Given the description of an element on the screen output the (x, y) to click on. 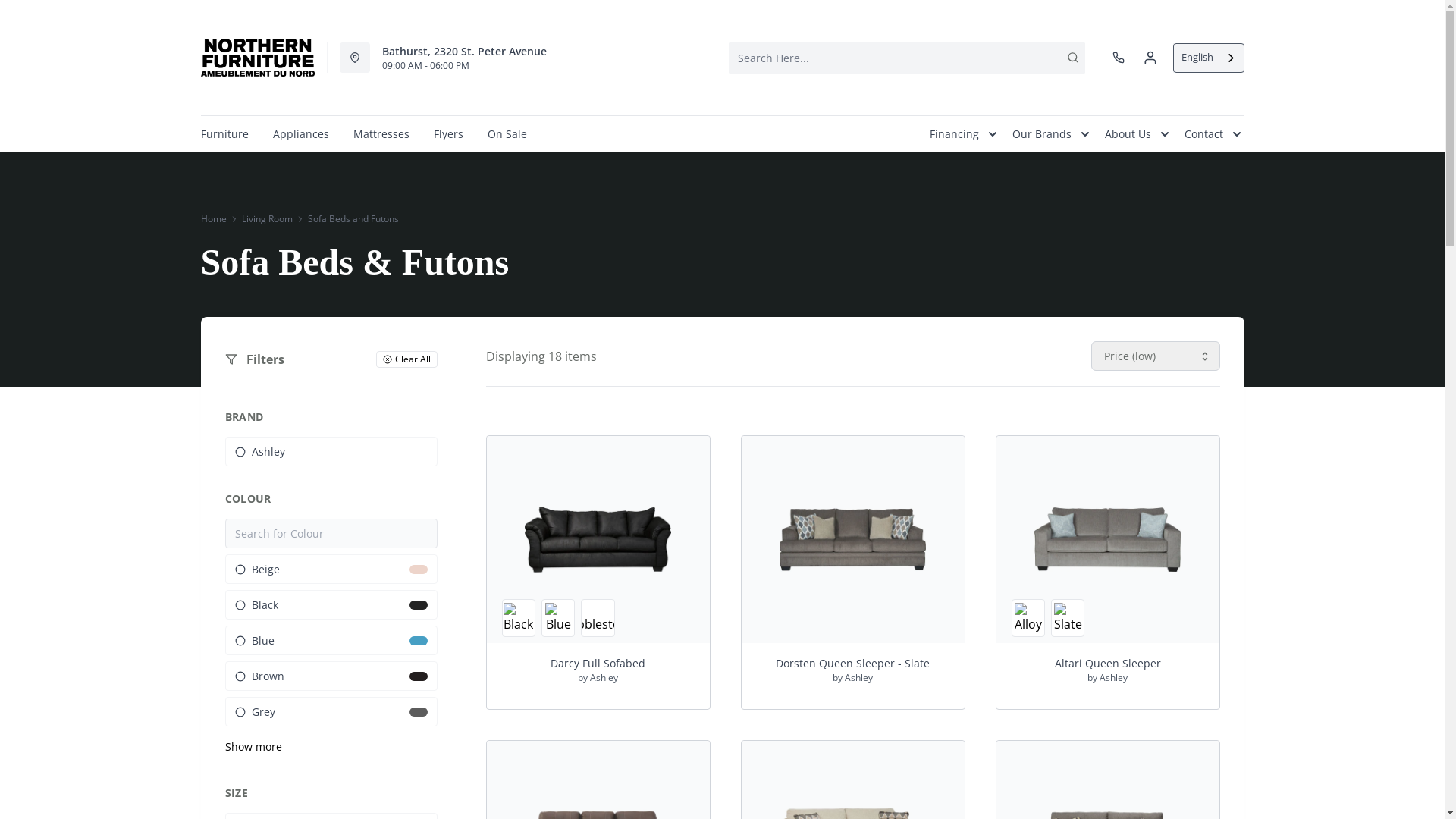
Altari Queen Sleeper Element type: text (1107, 663)
About Us Element type: text (1131, 133)
Show more Element type: text (330, 746)
Altari Queen Sleeper Element type: hover (1107, 539)
Dorsten Queen Sleeper - Slate Element type: hover (852, 539)
Financing Element type: text (958, 133)
Darcy Full Sofabed Element type: hover (597, 539)
English Element type: text (1208, 57)
Home Element type: text (212, 218)
Mattresses Element type: text (381, 133)
Furniture Element type: text (224, 133)
Appliances Element type: text (300, 133)
Dorsten Queen Sleeper - Slate Element type: text (852, 663)
Clear All Element type: text (406, 359)
Darcy Full Sofabed Element type: text (598, 663)
On Sale Element type: text (506, 133)
Our Brands Element type: text (1045, 133)
Contact Element type: text (1208, 133)
Flyers Element type: text (448, 133)
Bathurst, 2320 St. Peter Avenue
09:00 AM - 06:00 PM Element type: text (436, 57)
Living Room Element type: text (266, 218)
